Given the description of an element on the screen output the (x, y) to click on. 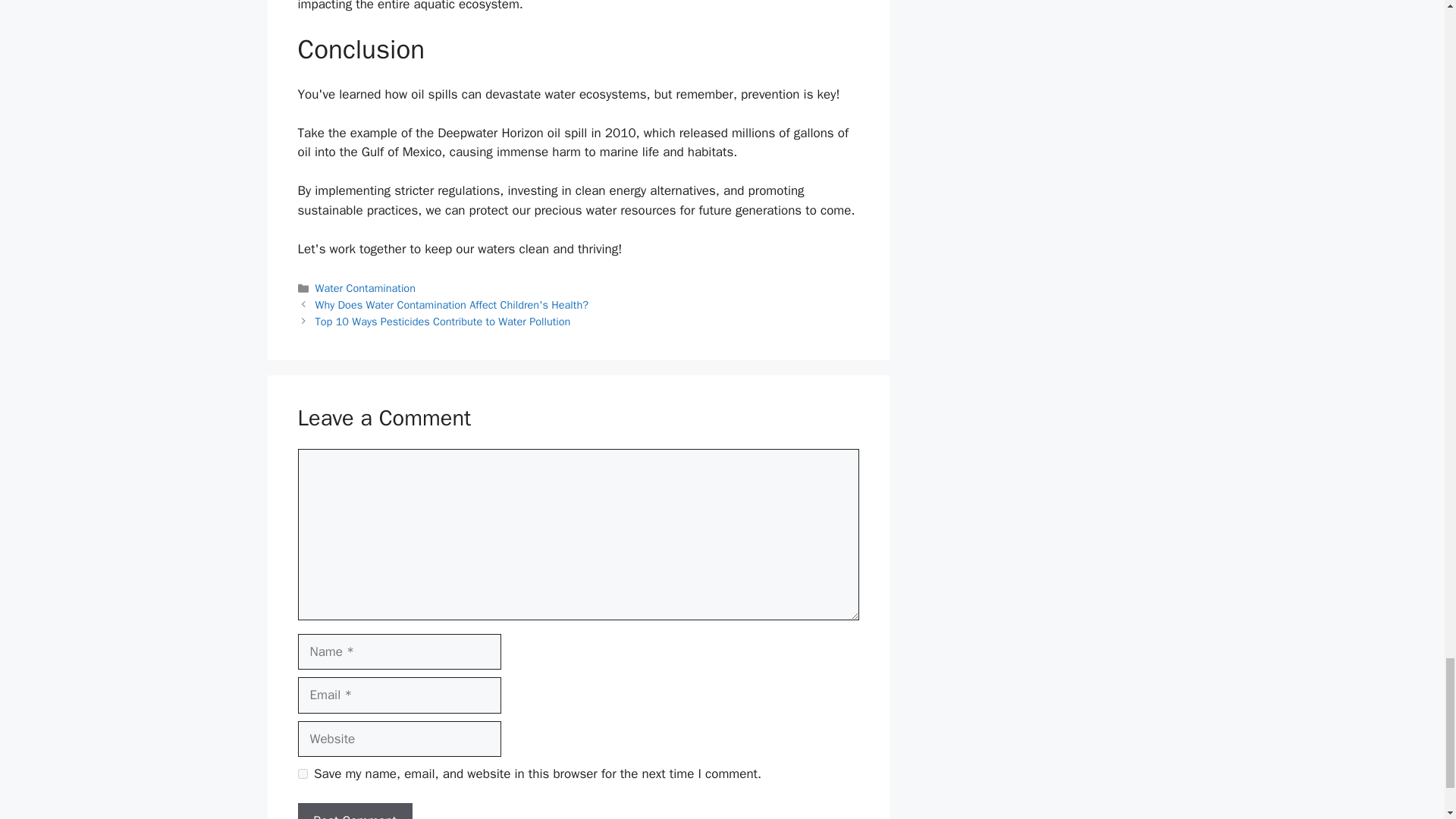
Next (442, 321)
Water Contamination (364, 287)
Post Comment (354, 811)
Why Does Water Contamination Affect Children's Health? (451, 305)
Post Comment (354, 811)
Top 10 Ways Pesticides Contribute to Water Pollution (442, 321)
Previous (451, 305)
yes (302, 773)
